Given the description of an element on the screen output the (x, y) to click on. 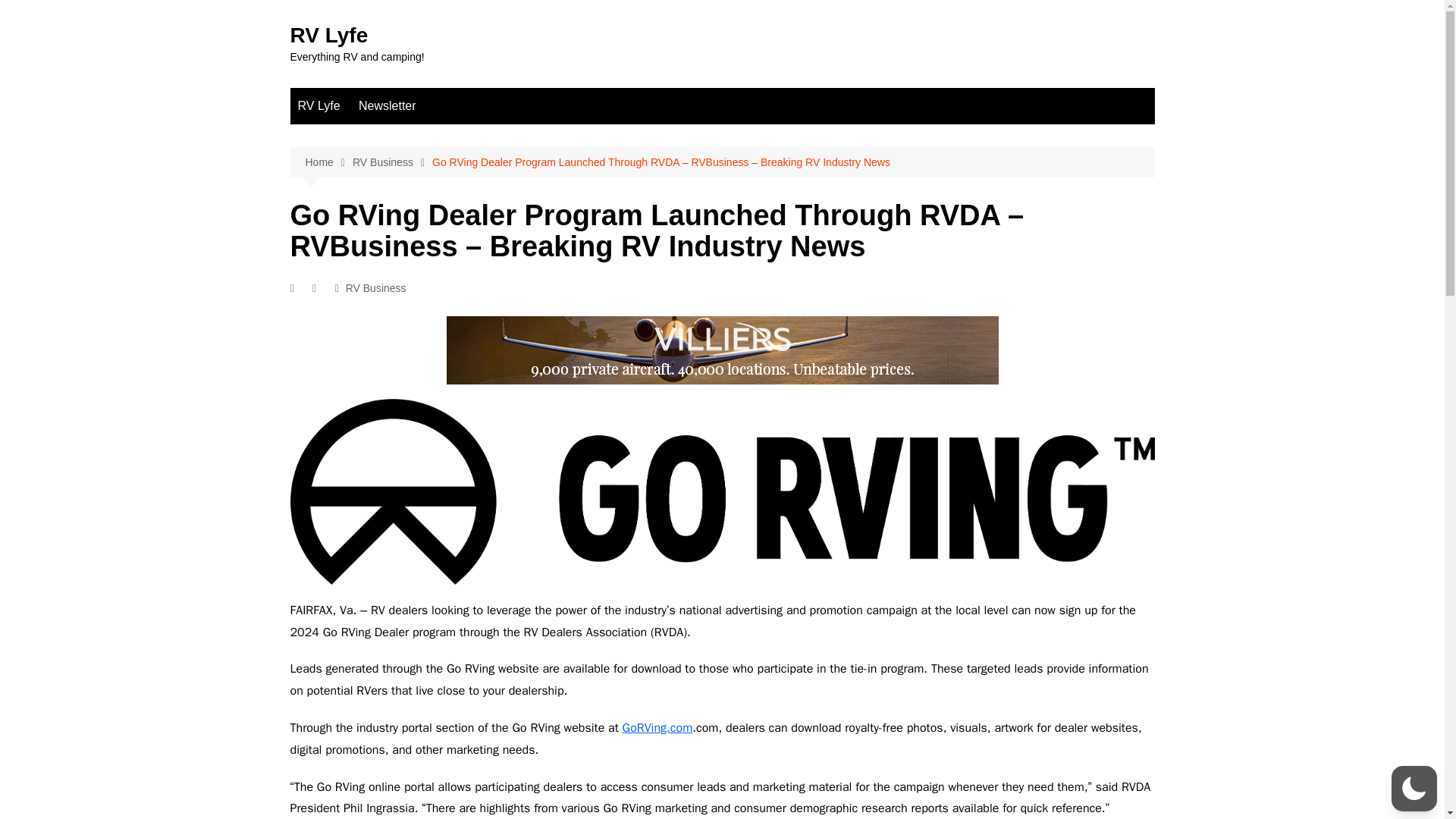
RV Business (376, 288)
GoRVing.com (658, 727)
Home (328, 162)
RV Lyfe (328, 34)
Newsletter (386, 105)
RV Lyfe (318, 105)
RV Business (392, 162)
